Given the description of an element on the screen output the (x, y) to click on. 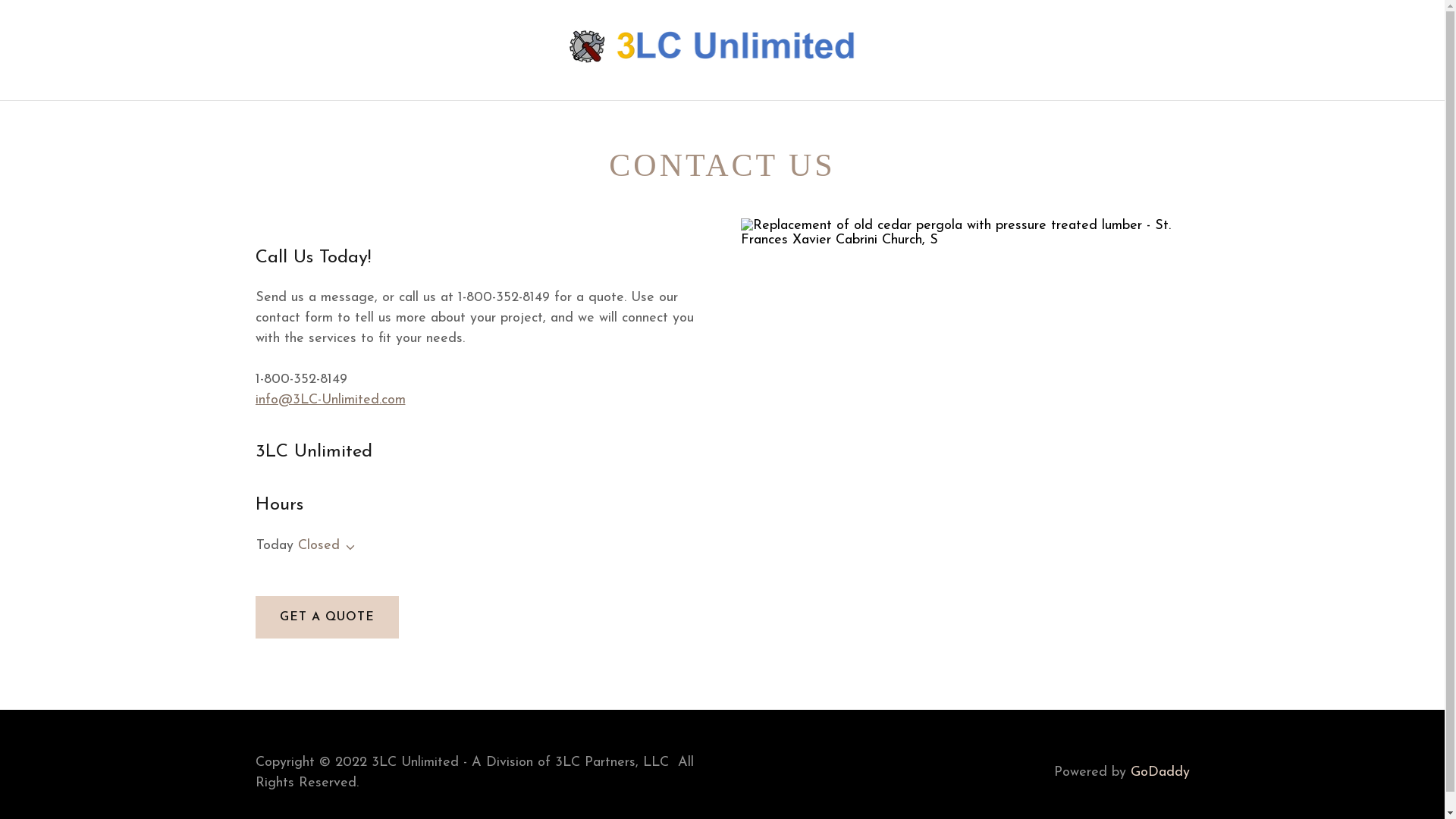
3LC Unlimited Element type: hover (722, 48)
GET A QUOTE Element type: text (326, 617)
GoDaddy Element type: text (1159, 772)
info@3LC-Unlimited.com Element type: text (329, 399)
